Given the description of an element on the screen output the (x, y) to click on. 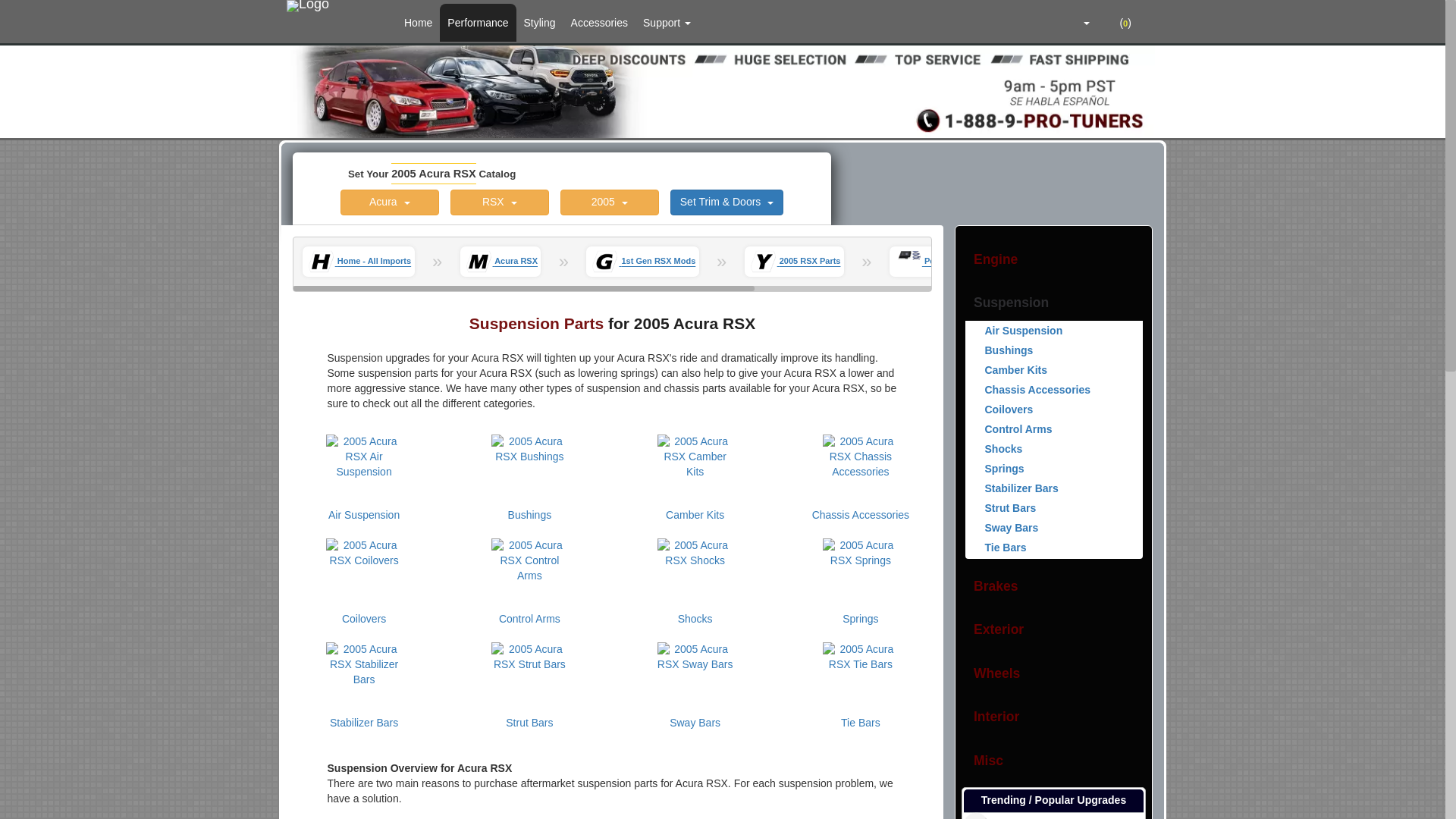
2005 RSX Parts Catalog Car Context Image (763, 261)
2005 Acura RSX Stabilizer Bars (363, 676)
2005 Acura RSX Air Suspension (363, 468)
2005 Acura RSX Shocks (695, 572)
Acura RSX Catalog Car Context Image (478, 261)
2005 Acura RSX Control Arms (529, 572)
2005 Acura RSX Springs (860, 572)
2005 Acura RSX Coilovers (363, 572)
Home (417, 22)
1st Gen RSX  Mods Catalog Car Context Image (604, 261)
2005 Acura RSX Chassis Accessories (860, 468)
Support (666, 22)
2005 Acura RSX Strut Bars (529, 676)
